Given the description of an element on the screen output the (x, y) to click on. 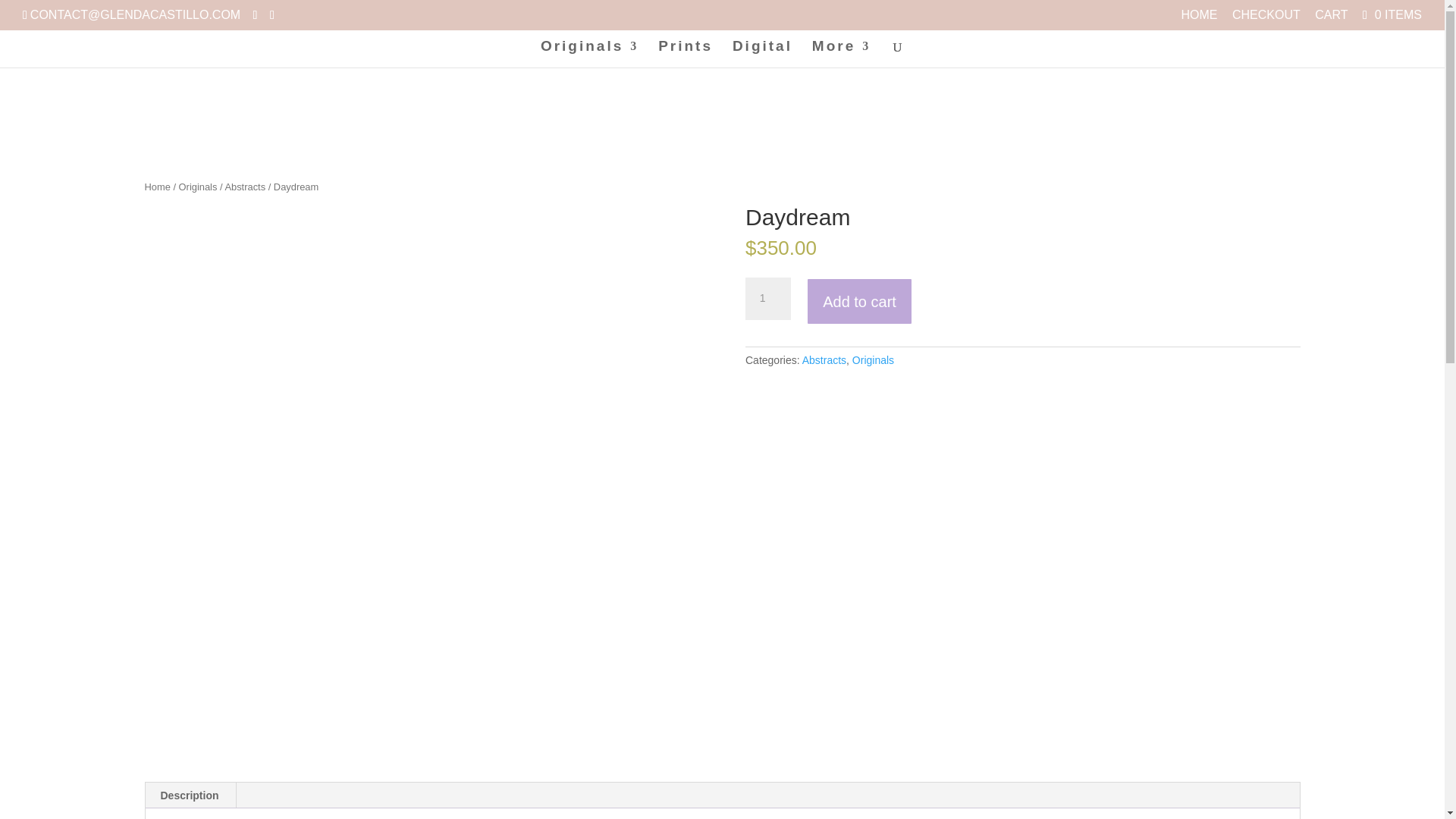
CHECKOUT (1265, 19)
Description (189, 795)
HOME (1198, 19)
Abstracts (244, 186)
Abstracts (823, 359)
CART (1331, 19)
Digital (762, 53)
More (841, 53)
Originals (589, 53)
Add to cart (859, 301)
Home (157, 186)
Originals (872, 359)
Originals (197, 186)
1 (767, 298)
Prints (685, 53)
